Given the description of an element on the screen output the (x, y) to click on. 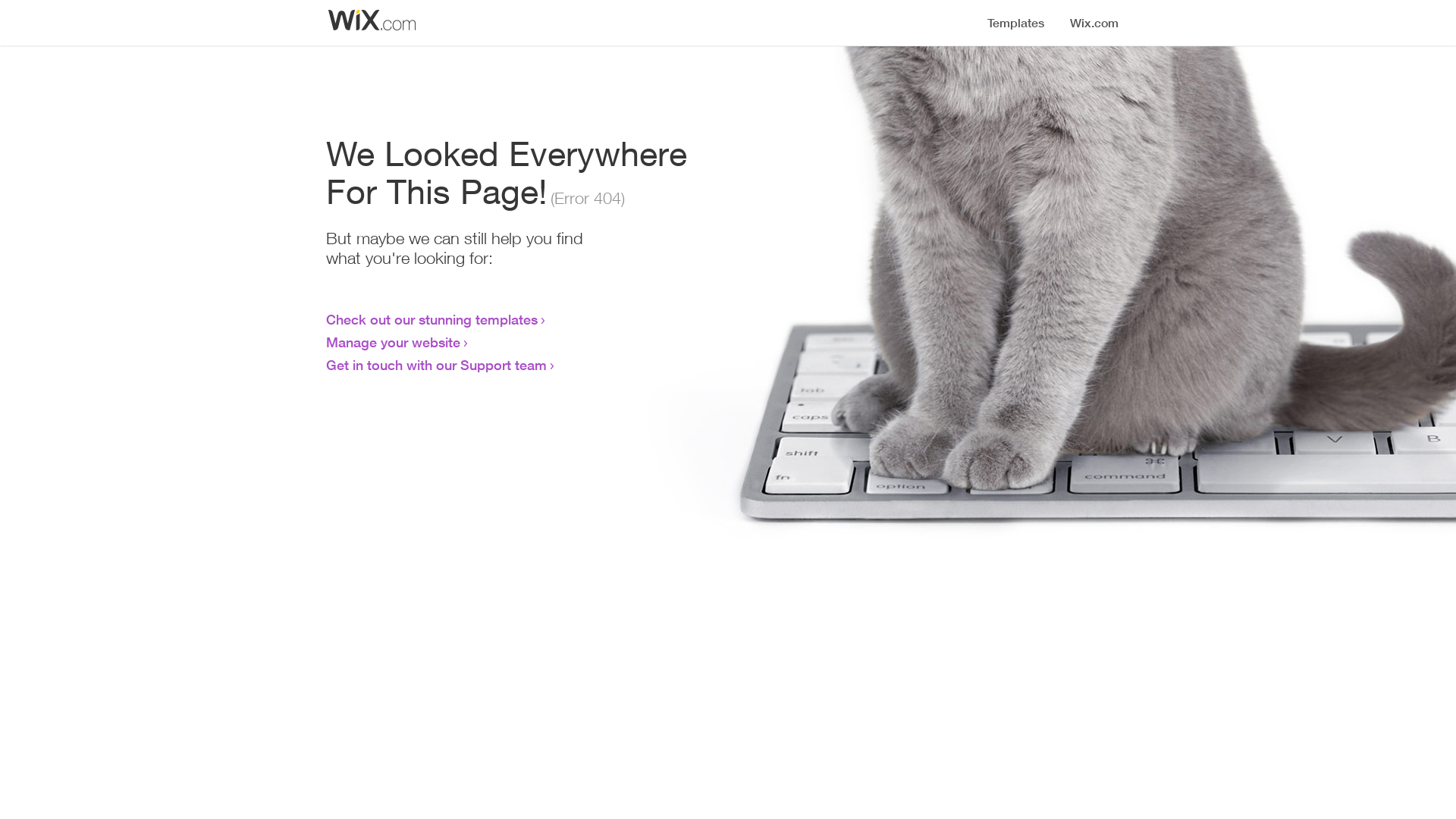
Manage your website Element type: text (393, 341)
Check out our stunning templates Element type: text (431, 318)
Get in touch with our Support team Element type: text (436, 364)
